Given the description of an element on the screen output the (x, y) to click on. 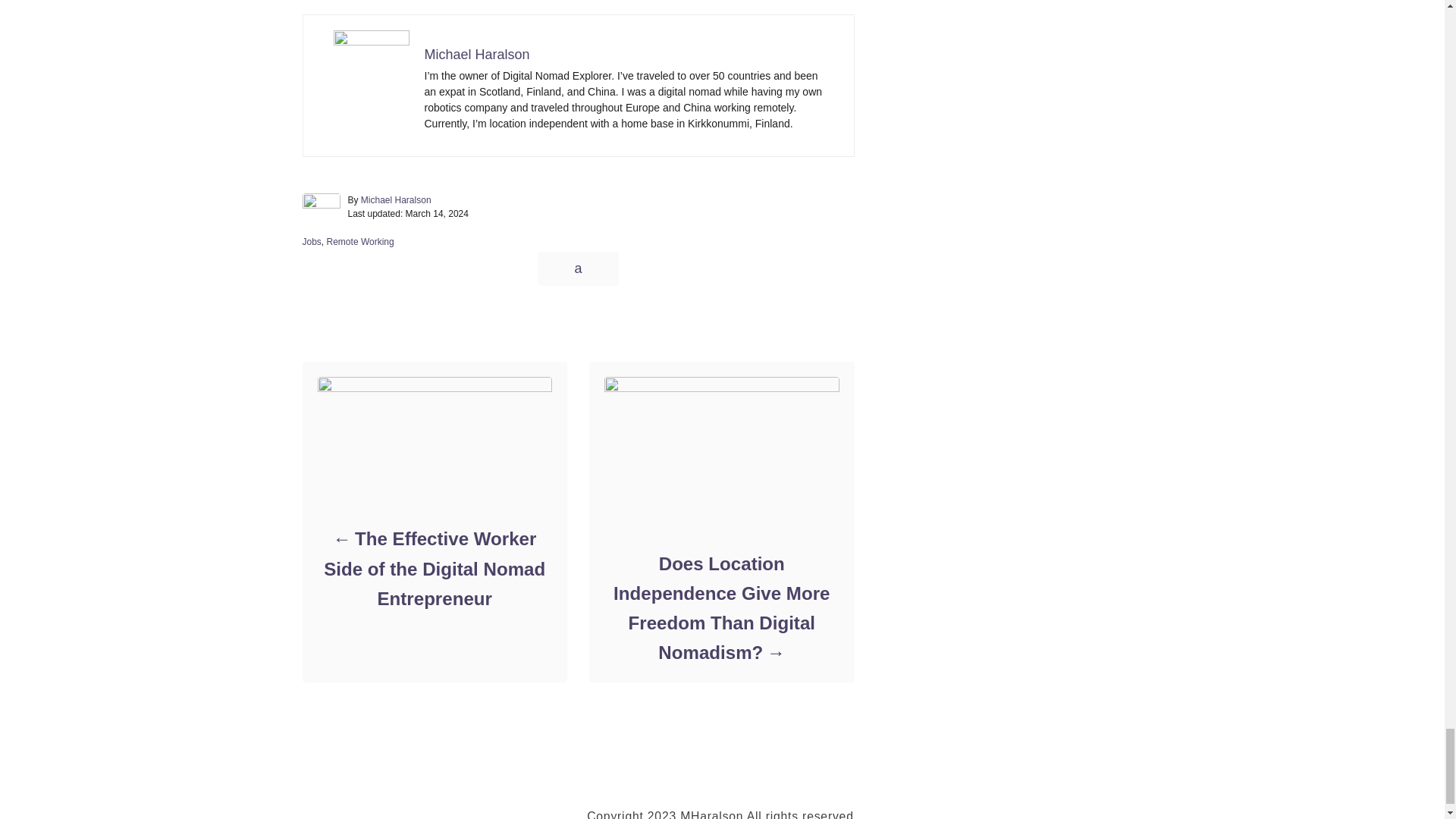
The Effective Worker Side of the Digital Nomad Entrepreneur (434, 568)
Jobs (310, 241)
Michael Haralson (395, 199)
Michael Haralson (477, 54)
Remote Working (360, 241)
a (577, 268)
